Given the description of an element on the screen output the (x, y) to click on. 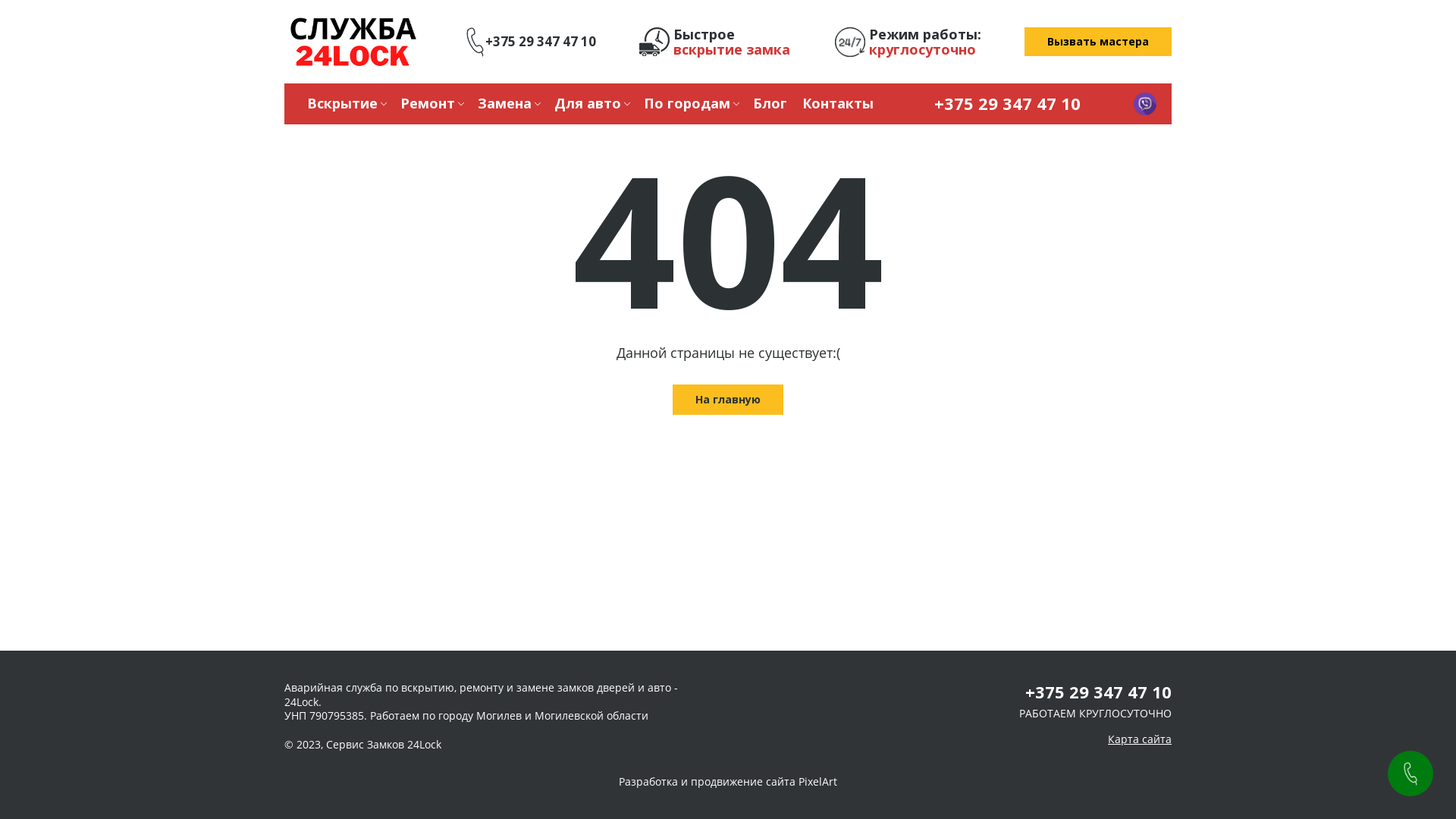
+375 29 347 47 10 Element type: text (531, 41)
+375 29 347 47 10 Element type: text (1007, 103)
+375 29 347 47 10 Element type: text (1098, 691)
